Given the description of an element on the screen output the (x, y) to click on. 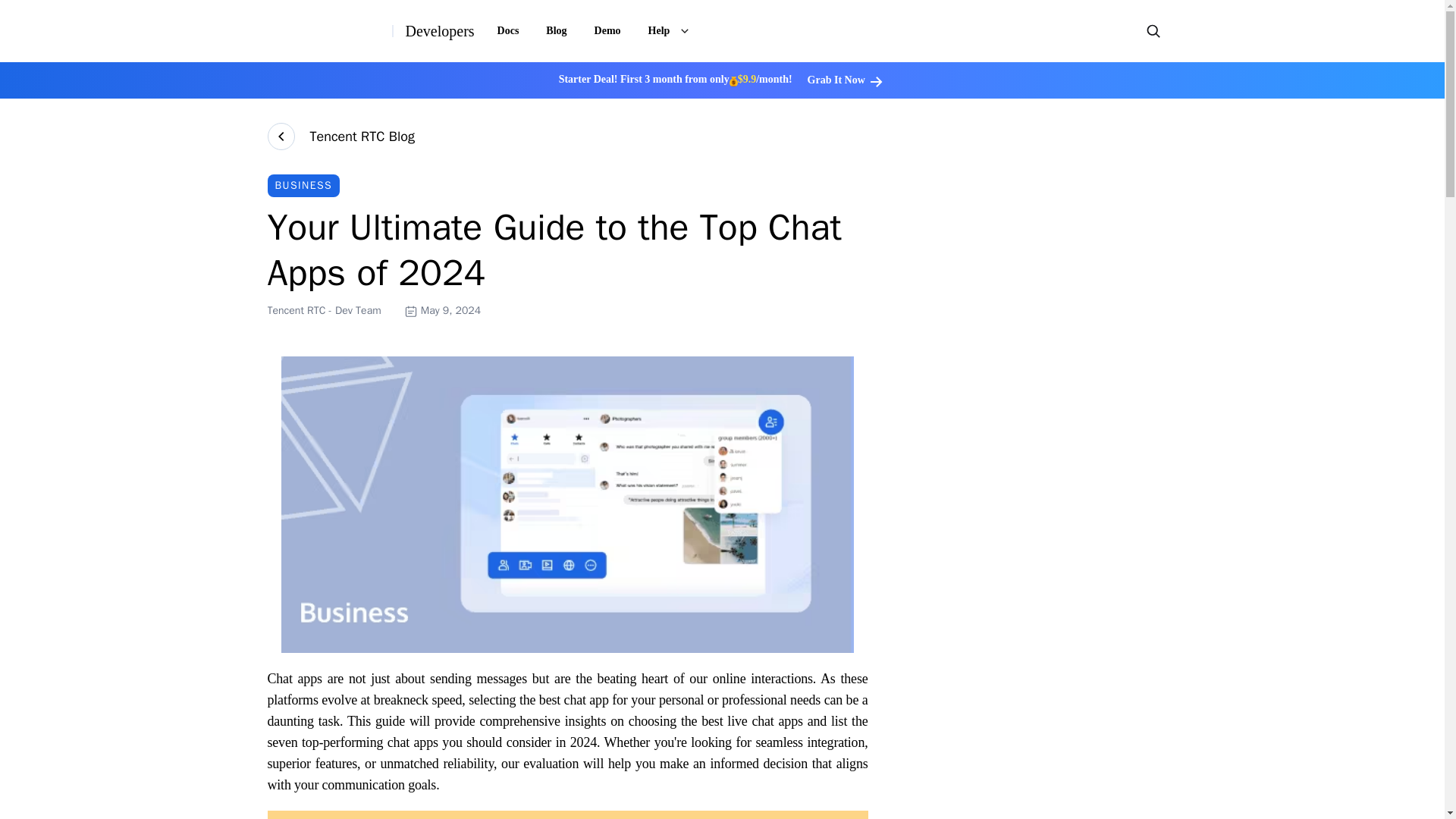
Developers (439, 30)
Demo (607, 30)
Blog (556, 30)
Docs (507, 30)
